Given the description of an element on the screen output the (x, y) to click on. 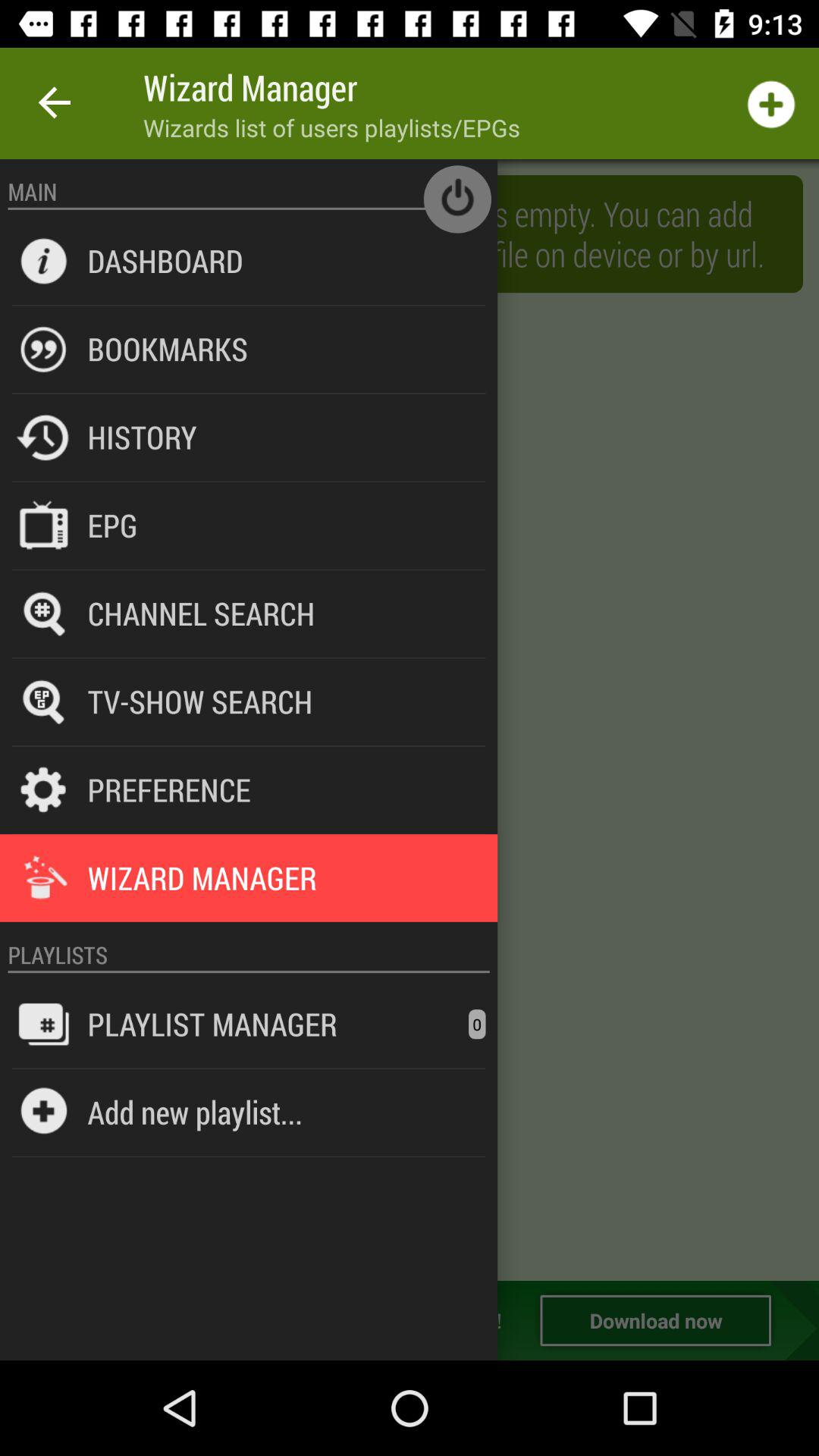
tap the playlist manager (212, 1023)
